Given the description of an element on the screen output the (x, y) to click on. 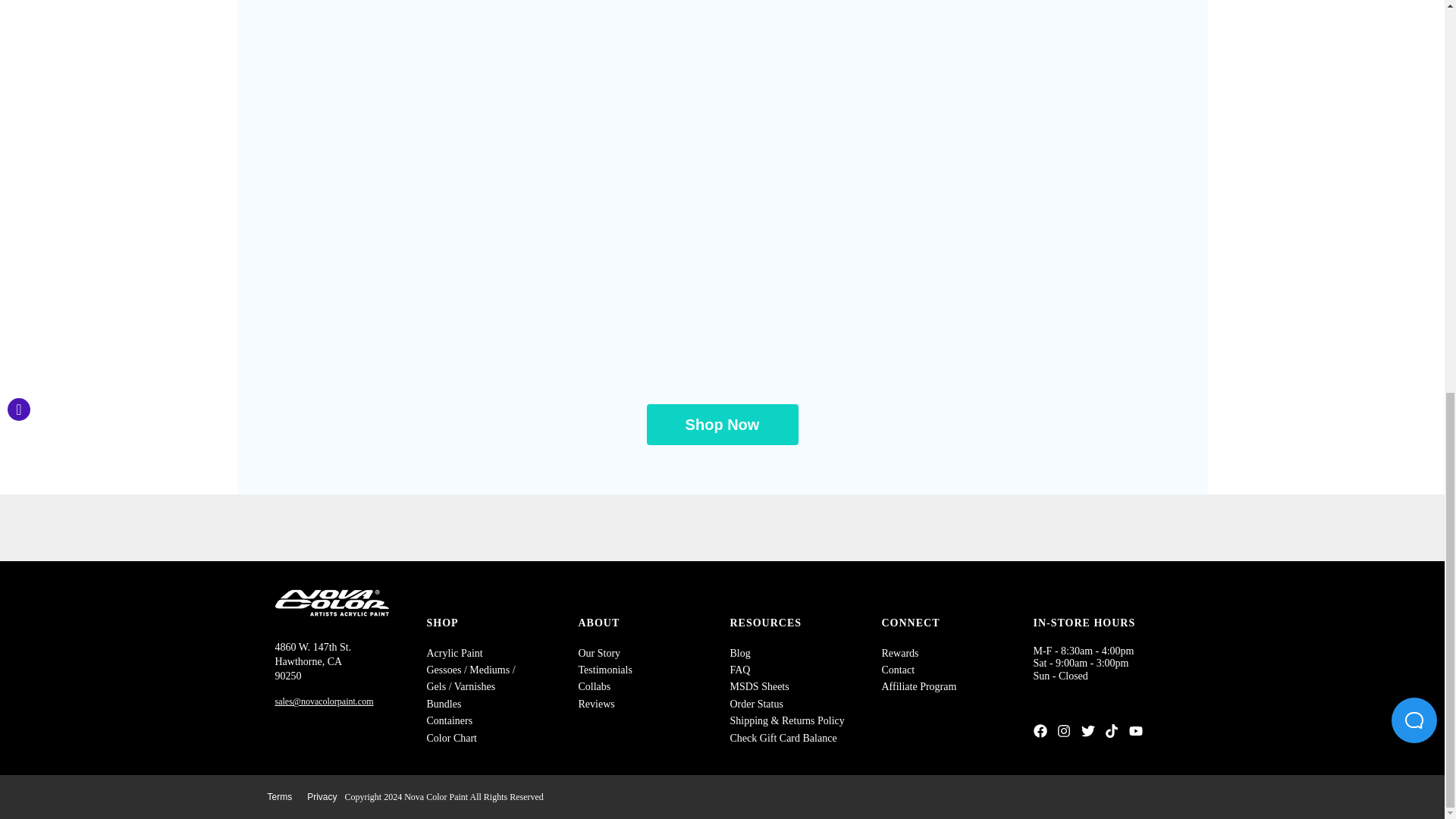
Affiliate Program (918, 686)
